Given the description of an element on the screen output the (x, y) to click on. 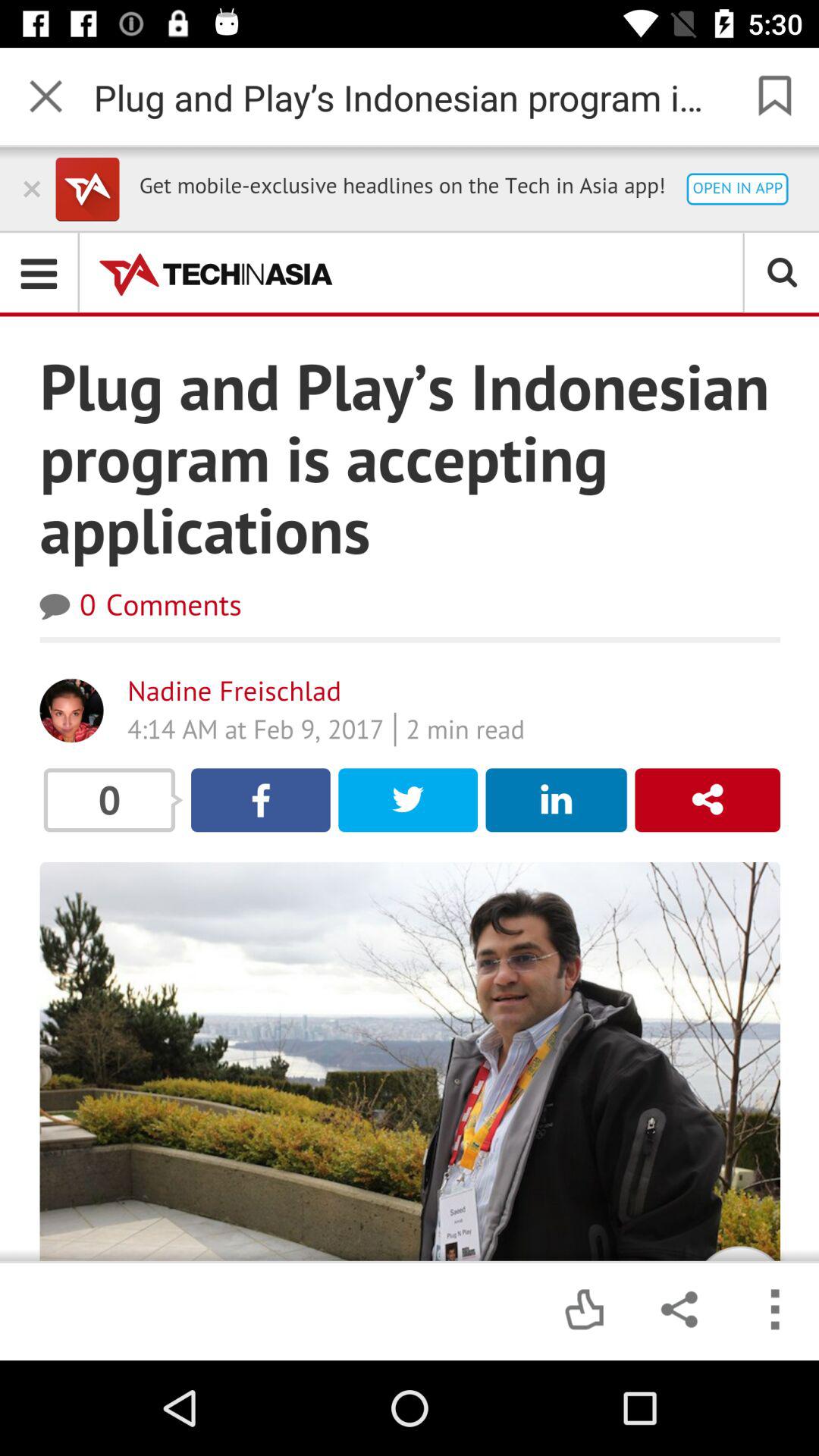
click on the button which is next to the like button (677, 1310)
